Given the description of an element on the screen output the (x, y) to click on. 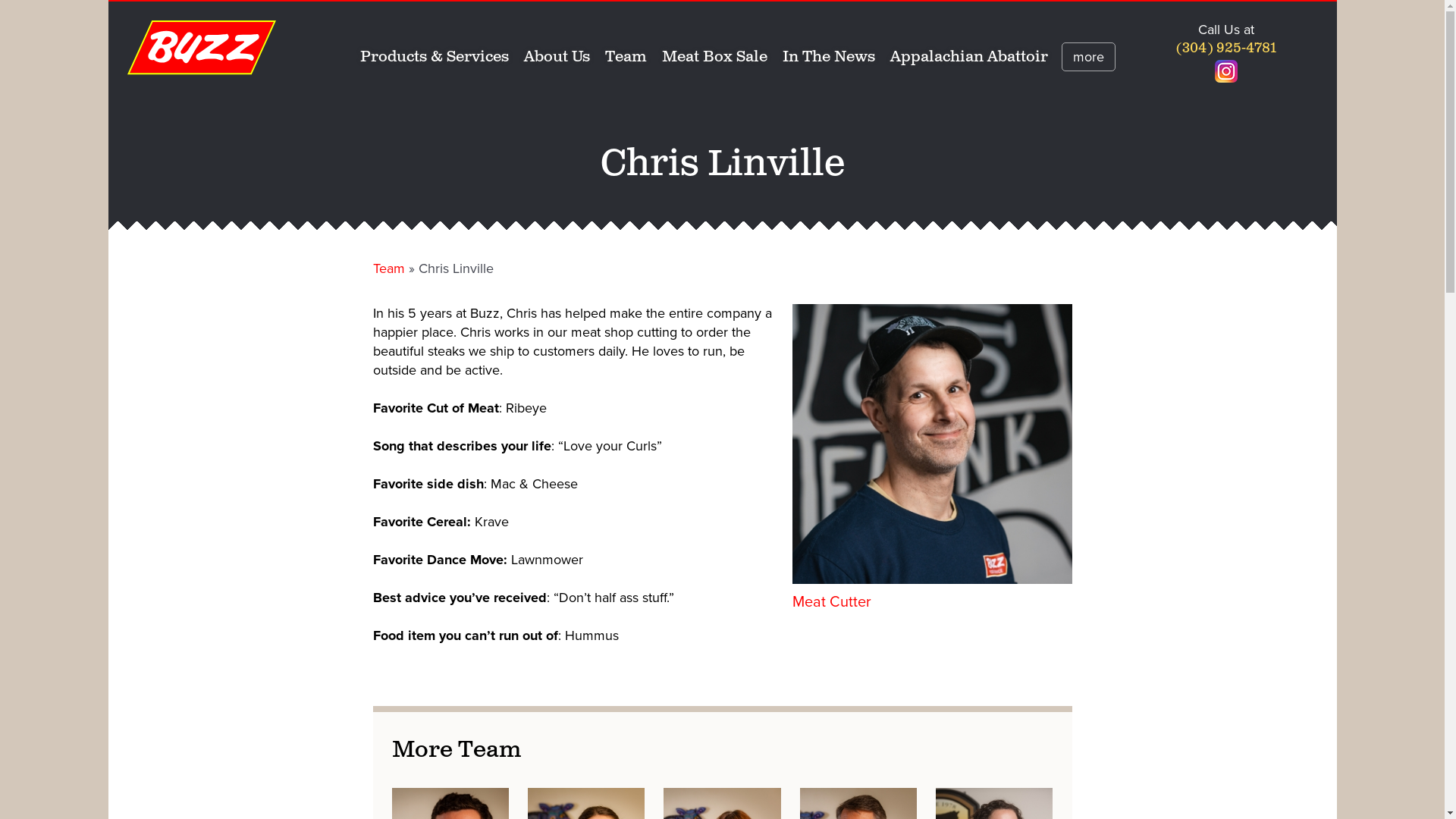
Buzz Food Service Element type: text (201, 47)
In The News Element type: text (828, 57)
About Us Element type: text (556, 57)
Meat Box Sale Element type: text (714, 57)
Team Element type: text (625, 57)
Products & Services Element type: text (434, 57)
(304) 925-4781 Element type: text (1226, 48)
more Element type: text (1088, 56)
Team Element type: text (388, 268)
Appalachian Abattoir Element type: text (969, 57)
